Given the description of an element on the screen output the (x, y) to click on. 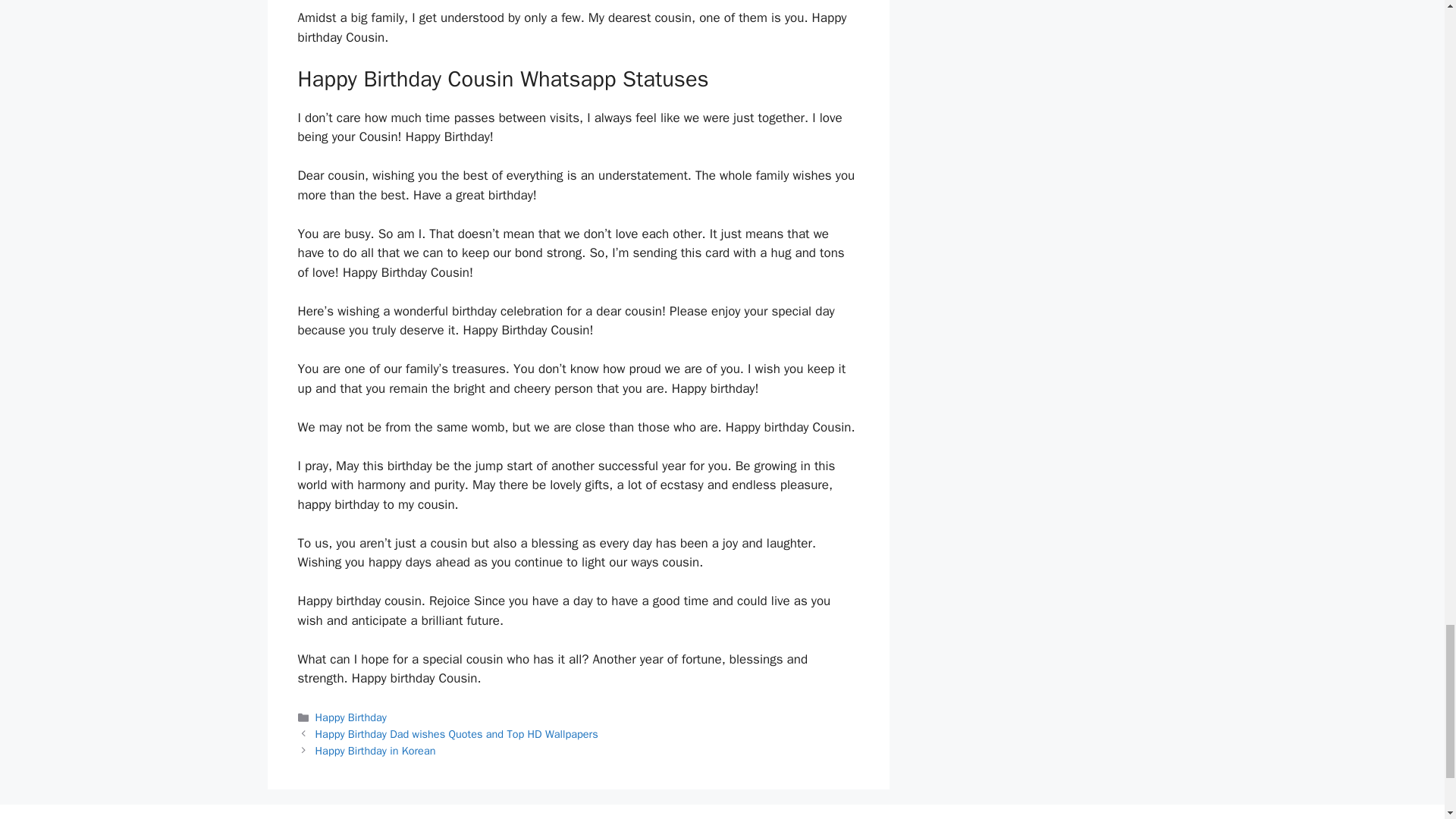
Happy Birthday in Korean (375, 750)
Happy Birthday (351, 716)
Happy Birthday Dad wishes Quotes and Top HD Wallpapers (456, 734)
